Given the description of an element on the screen output the (x, y) to click on. 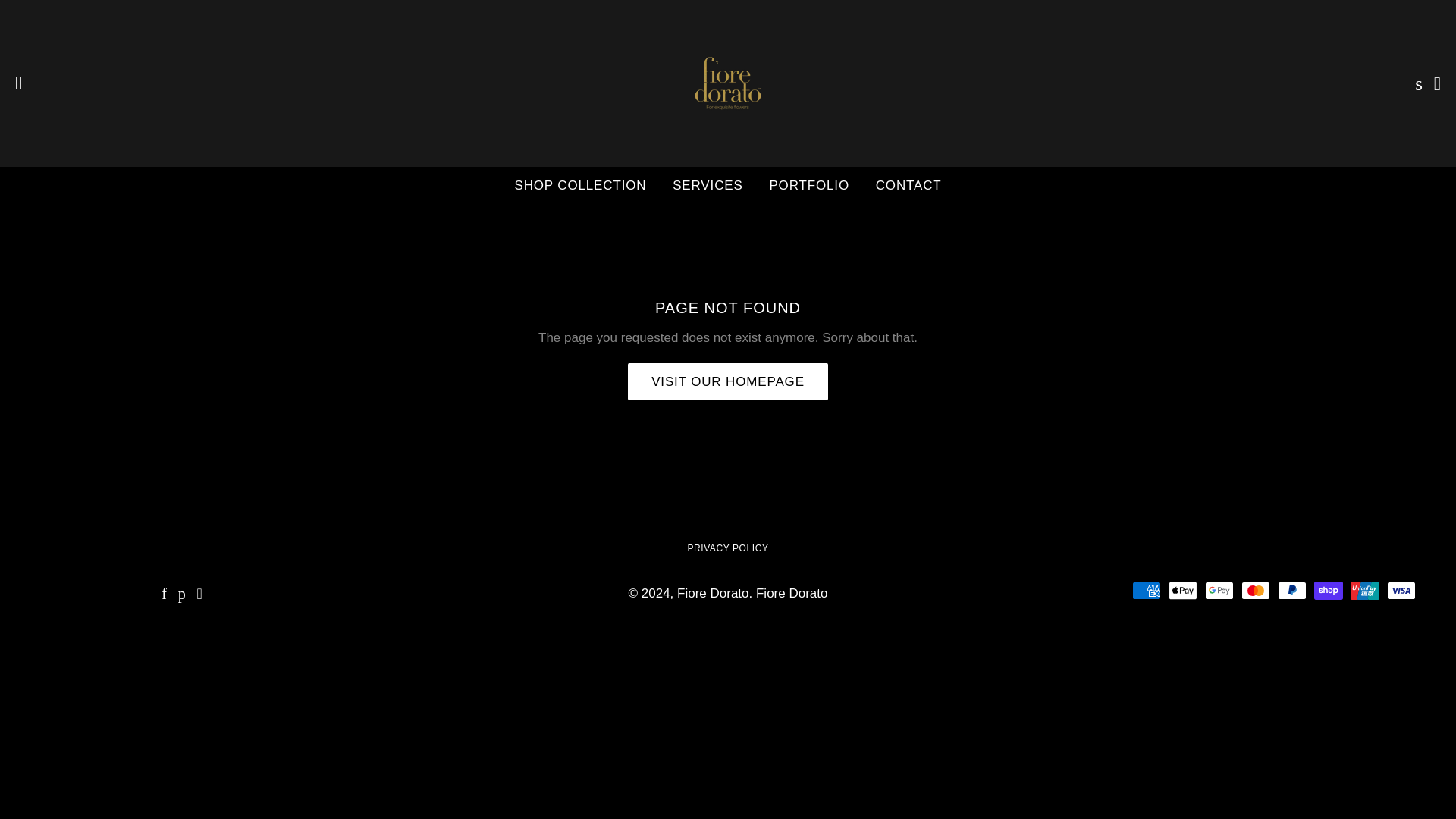
Apple Pay (1182, 590)
PayPal (1292, 590)
American Express (1146, 590)
SHOP COLLECTION (580, 185)
Shop Pay (1328, 590)
Mastercard (1255, 590)
Google Pay (1219, 590)
Union Pay (1364, 590)
Visa (1401, 590)
